Given the description of an element on the screen output the (x, y) to click on. 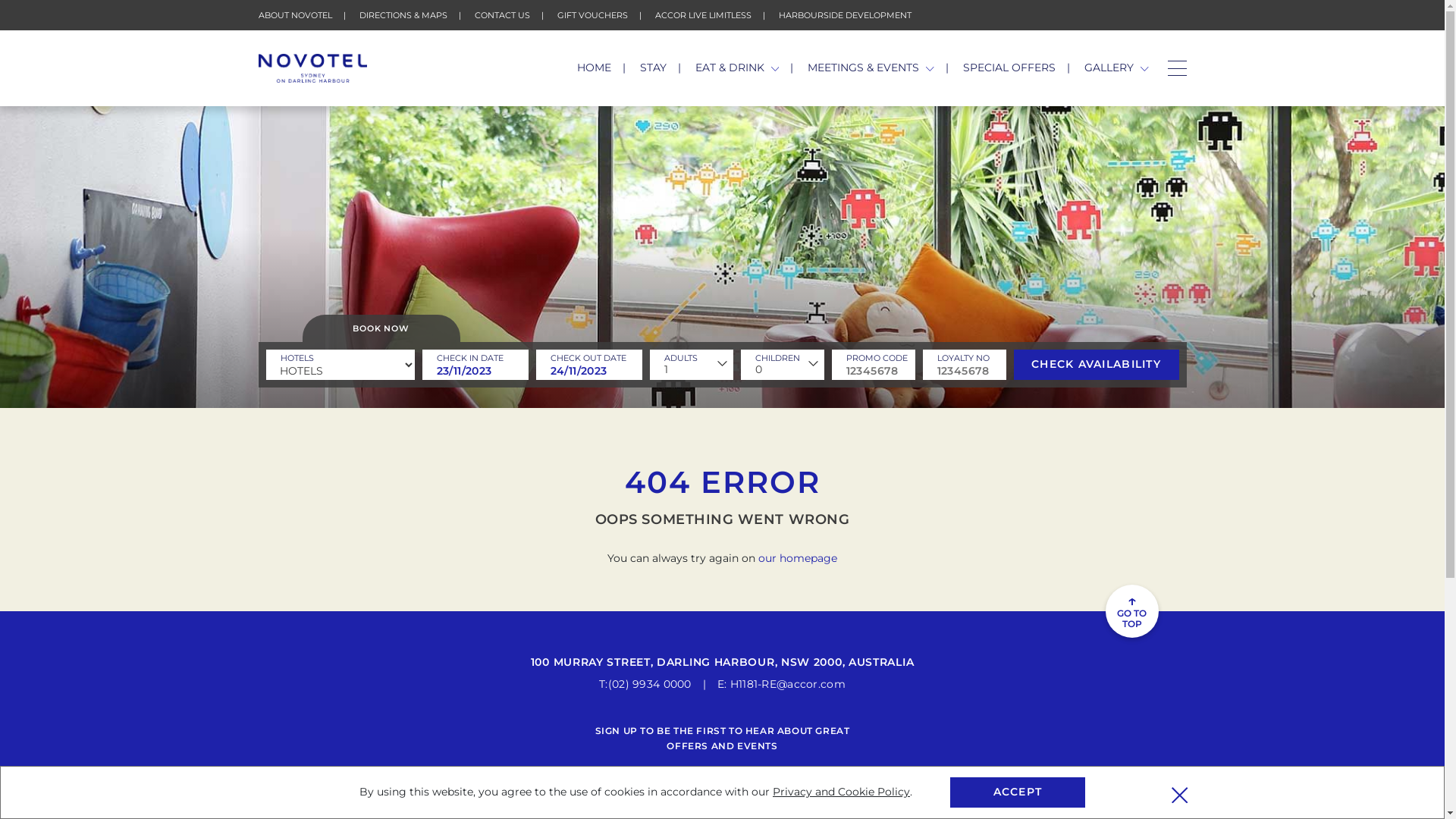
Privacy and Cookie Policy
Opens in a new tab. Element type: text (841, 791)
ACCOR LIVE LIMITLESS
OPENS IN A NEW TAB. Element type: text (703, 14)
HARBOURSIDE DEVELOPMENT
OPENS IN A NEW TAB. Element type: text (844, 14)
SPECIAL OFFERS Element type: text (1009, 67)
GALLERY Element type: text (1116, 67)
ACCEPT Element type: text (1017, 792)
(02) 9934 0000 Element type: text (649, 684)
MEETINGS & EVENTS Element type: text (870, 67)
our homepage Element type: text (797, 557)
HOME Element type: text (594, 67)
BOOK NOW Element type: text (380, 328)
STAY Element type: text (653, 67)
DIRECTIONS & MAPS
OPENS IN A NEW TAB. Element type: text (403, 14)
CHECK AVAILABILITY Element type: text (1095, 364)
CONTACT US
OPENS IN A NEW TAB. Element type: text (502, 14)
EAT & DRINK Element type: text (737, 67)
ABOUT NOVOTEL
OPENS IN A NEW TAB. Element type: text (294, 14)
GIFT VOUCHERS
OPENS IN A NEW TAB. Element type: text (591, 14)
H1181-RE@accor.com Element type: text (787, 683)
